Given the description of an element on the screen output the (x, y) to click on. 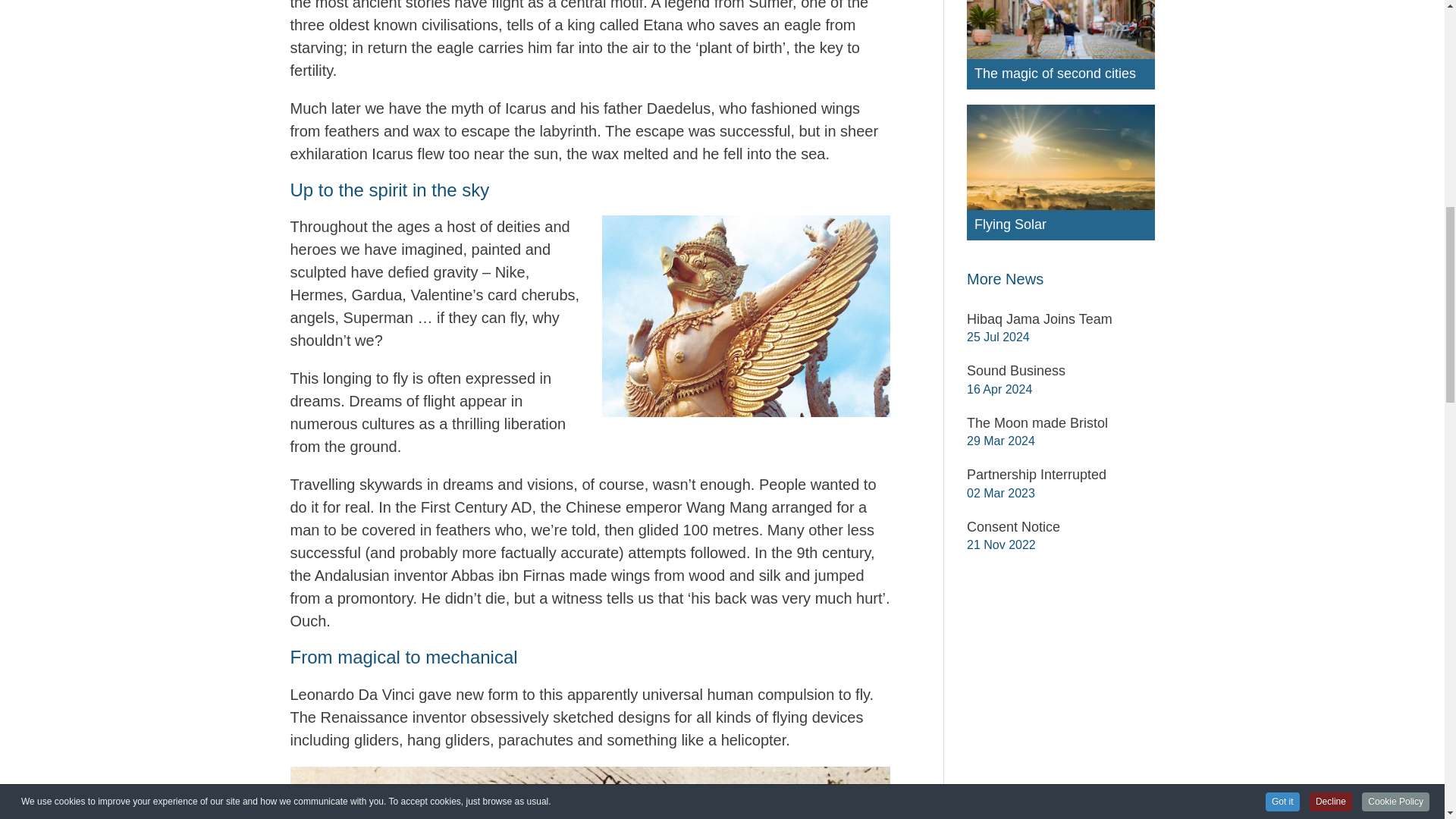
Hibaq Jama Joins Team (1060, 320)
Consent Notice (1060, 527)
Partnership Interrupted (1060, 475)
The magic of second cities (1060, 73)
The Moon made Bristol (1060, 424)
Flying Solar (1060, 224)
Sound Business (1060, 371)
